Given the description of an element on the screen output the (x, y) to click on. 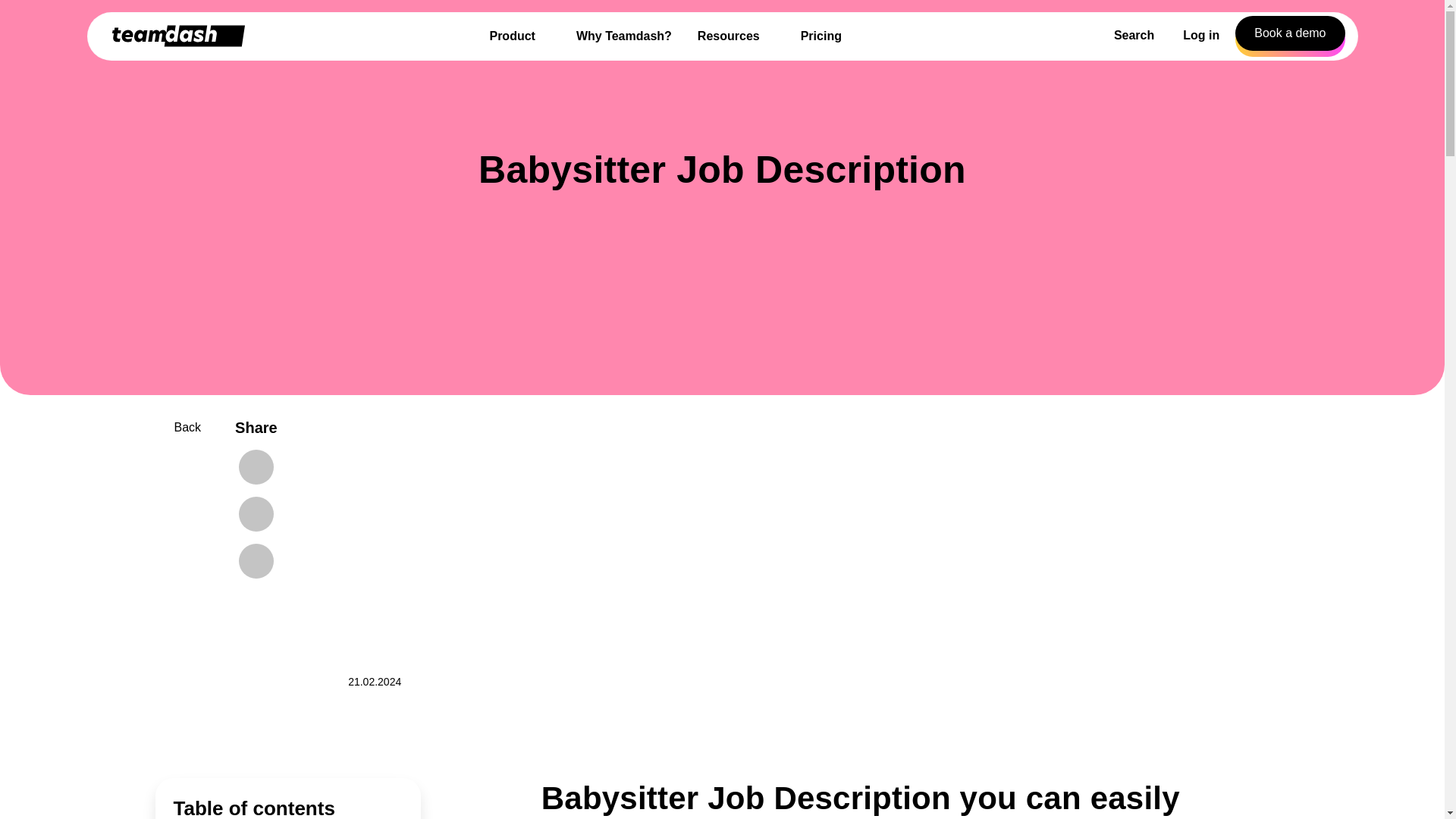
Product (170, 748)
Submit (142, 449)
Use cases (60, 762)
Product (56, 631)
